Given the description of an element on the screen output the (x, y) to click on. 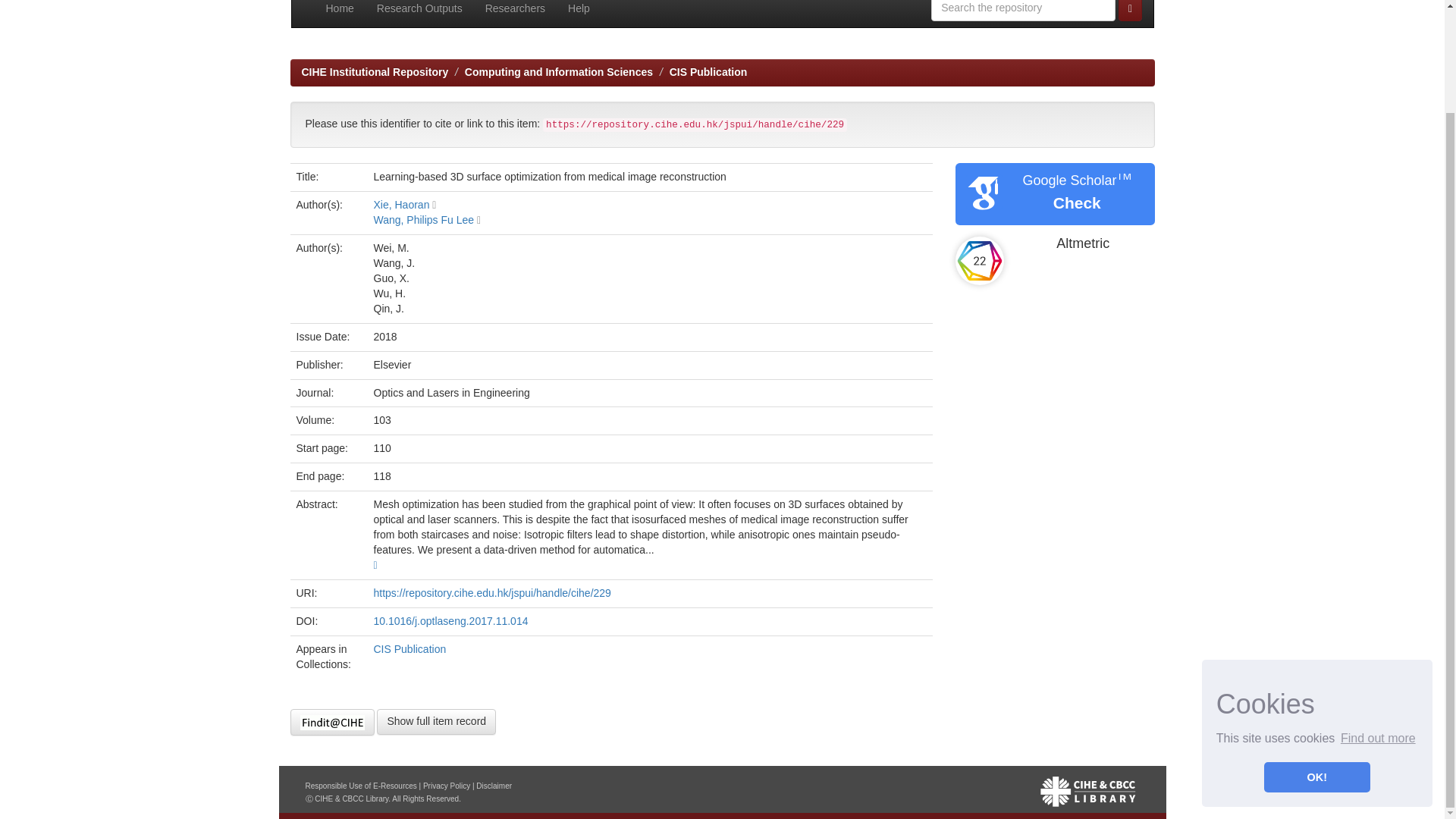
OK! (1316, 657)
Search Google Scholar (1076, 202)
Computing and Information Sciences (558, 71)
Responsible Use of E-Resources (360, 786)
Find out more (1378, 618)
Wang, Philips Fu Lee (423, 219)
CIHE Institutional Repository (374, 71)
Show full item record (436, 721)
Research Outputs (419, 13)
CIS Publication (708, 71)
